Given the description of an element on the screen output the (x, y) to click on. 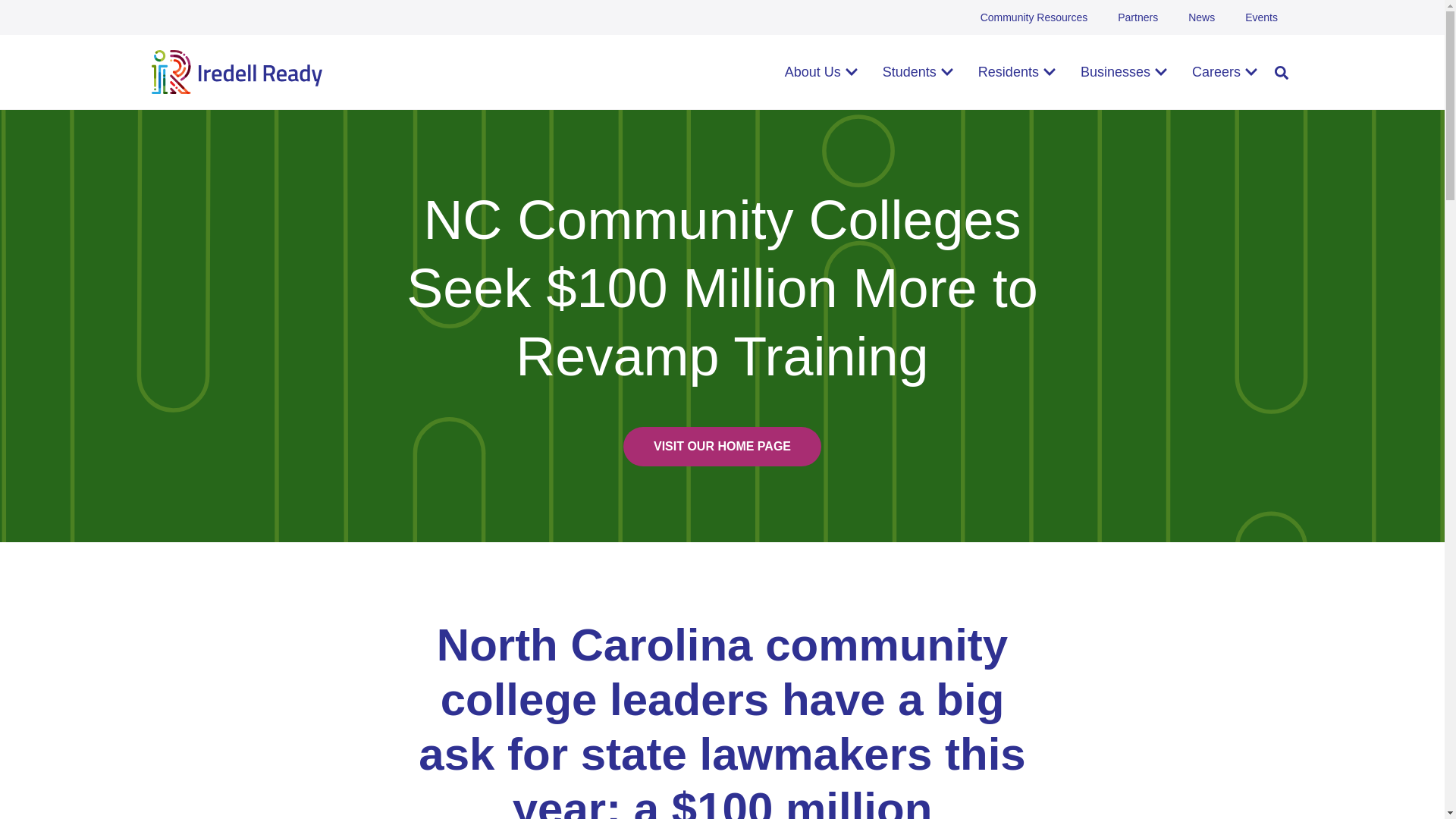
Community Resources (1034, 17)
News (1201, 17)
Partners (1137, 17)
Events (1261, 17)
